Given the description of an element on the screen output the (x, y) to click on. 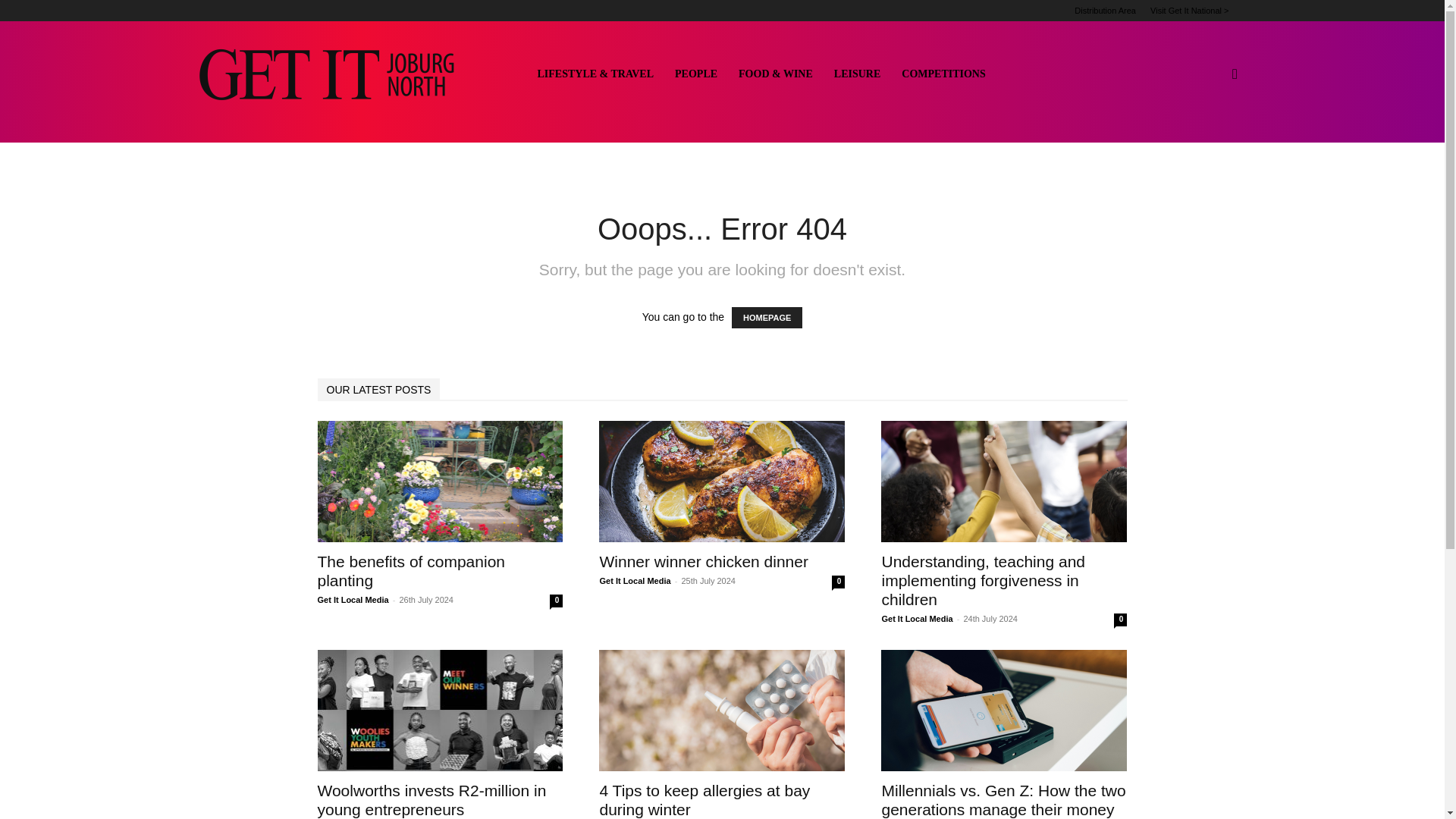
Winner winner chicken dinner (721, 481)
Winner winner chicken dinner (703, 561)
Get it Joburg North (342, 73)
Woolworths invests R2-million in young entrepreneurs (439, 710)
Search (1210, 146)
Woolworths invests R2-million in young entrepreneurs (431, 800)
Distribution Area (1104, 10)
The benefits of companion planting (411, 570)
The benefits of companion planting (439, 481)
4 Tips to keep allergies at bay during winter (721, 710)
